Given the description of an element on the screen output the (x, y) to click on. 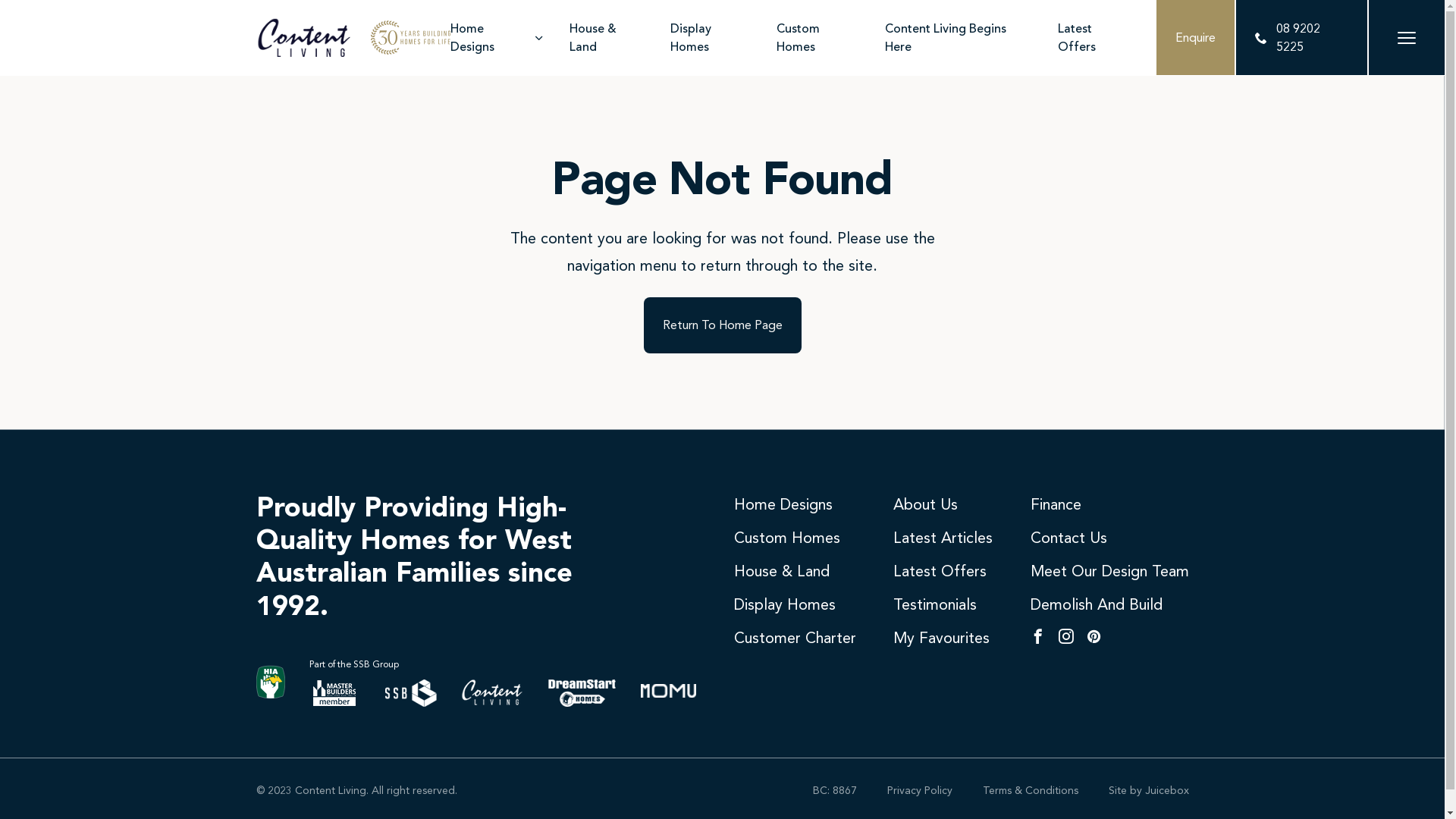
Custom Homes Element type: text (787, 537)
House & Land Element type: text (607, 37)
Home Designs Element type: text (498, 37)
Testimonials Element type: text (934, 604)
Home Designs Element type: text (783, 503)
Pinterest Element type: text (1093, 637)
Content Living Begins Here Element type: text (959, 37)
About Us Element type: text (925, 503)
My Favourites Element type: text (941, 637)
Terms & Conditions Element type: text (1030, 790)
Enquire Element type: text (1195, 37)
Latest Articles Element type: text (942, 537)
Demolish And Build Element type: text (1095, 604)
Customer Charter Element type: text (795, 637)
Display Homes Element type: text (784, 604)
Finance Element type: text (1054, 503)
Latest Offers Element type: text (939, 570)
08 9202 5225 Element type: text (1301, 37)
Instagram Element type: text (1065, 637)
House & Land Element type: text (781, 570)
Display Homes Element type: text (711, 37)
Meet Our Design Team Element type: text (1108, 570)
Facebook Element type: text (1036, 637)
Privacy Policy Element type: text (919, 790)
Contact Us Element type: text (1067, 537)
Latest Offers Element type: text (1094, 37)
Return To Home Page Element type: text (721, 325)
Site by Juicebox Element type: text (1148, 790)
Custom Homes Element type: text (818, 37)
